Given the description of an element on the screen output the (x, y) to click on. 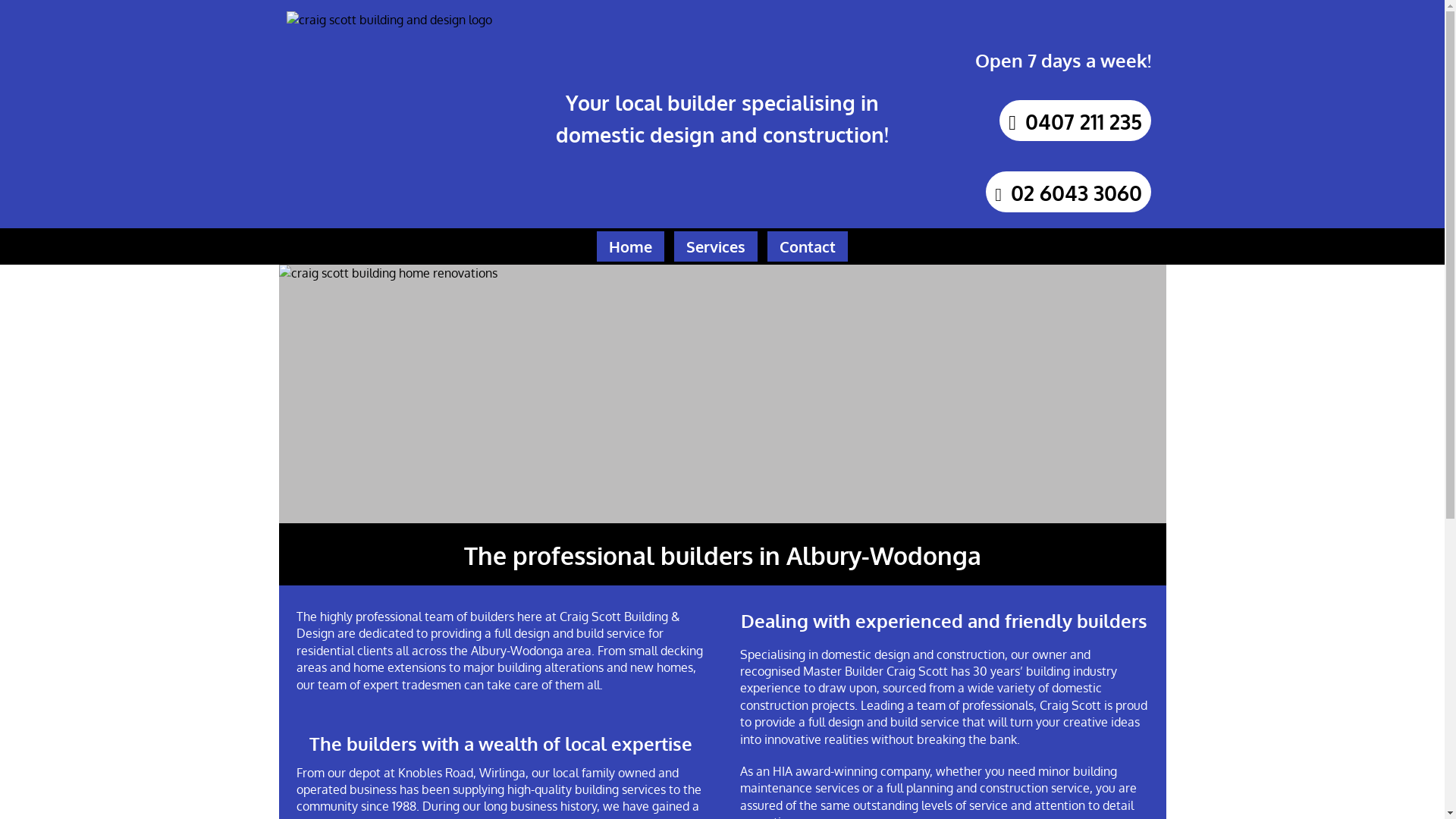
craig scott building and design logo Element type: hover (389, 113)
Contact Element type: text (807, 246)
craig scott building home renovations Element type: hover (722, 393)
Home Element type: text (630, 246)
Services Element type: text (715, 246)
